Given the description of an element on the screen output the (x, y) to click on. 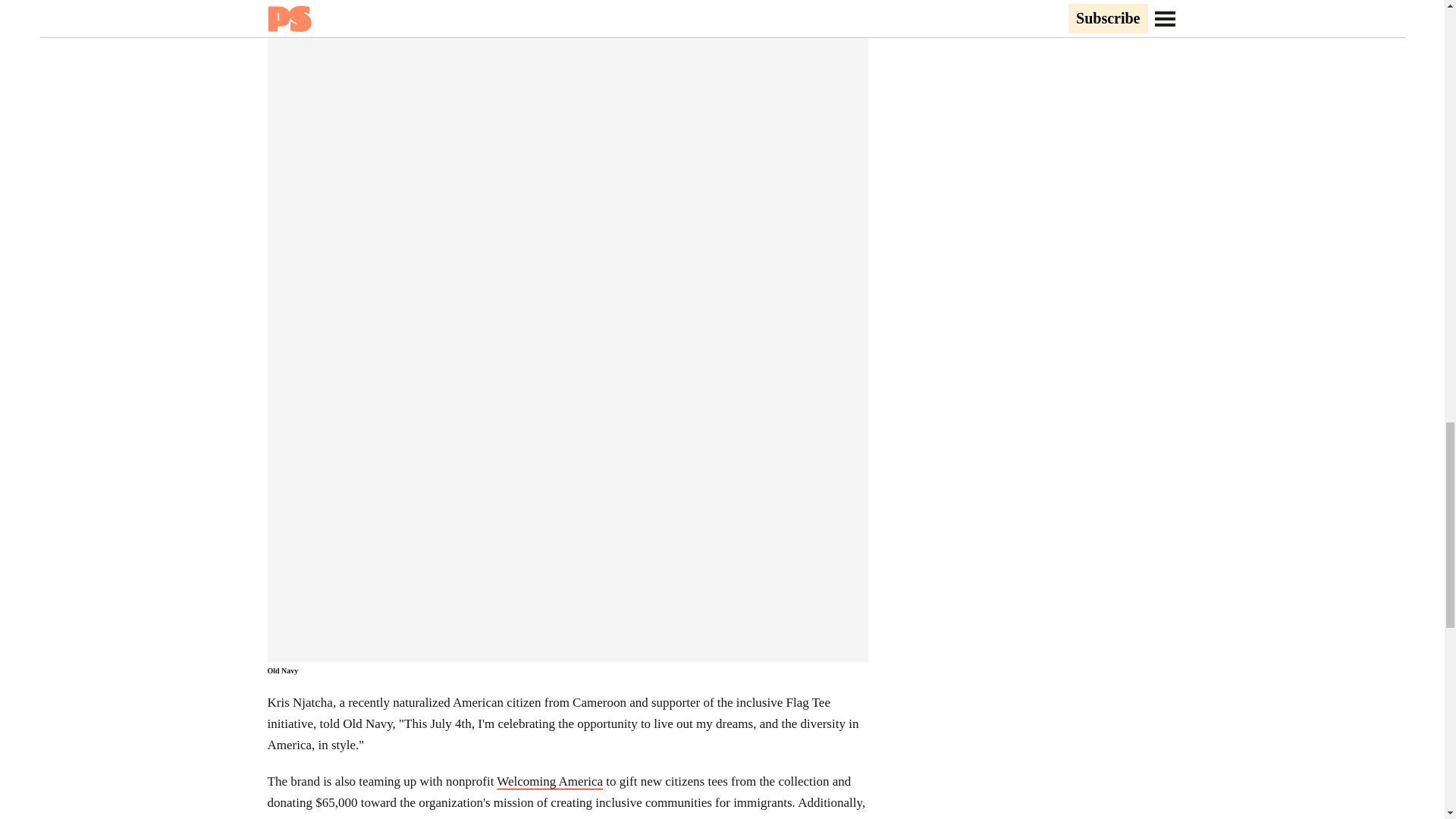
Welcoming America (549, 781)
Old Navy (282, 670)
